Given the description of an element on the screen output the (x, y) to click on. 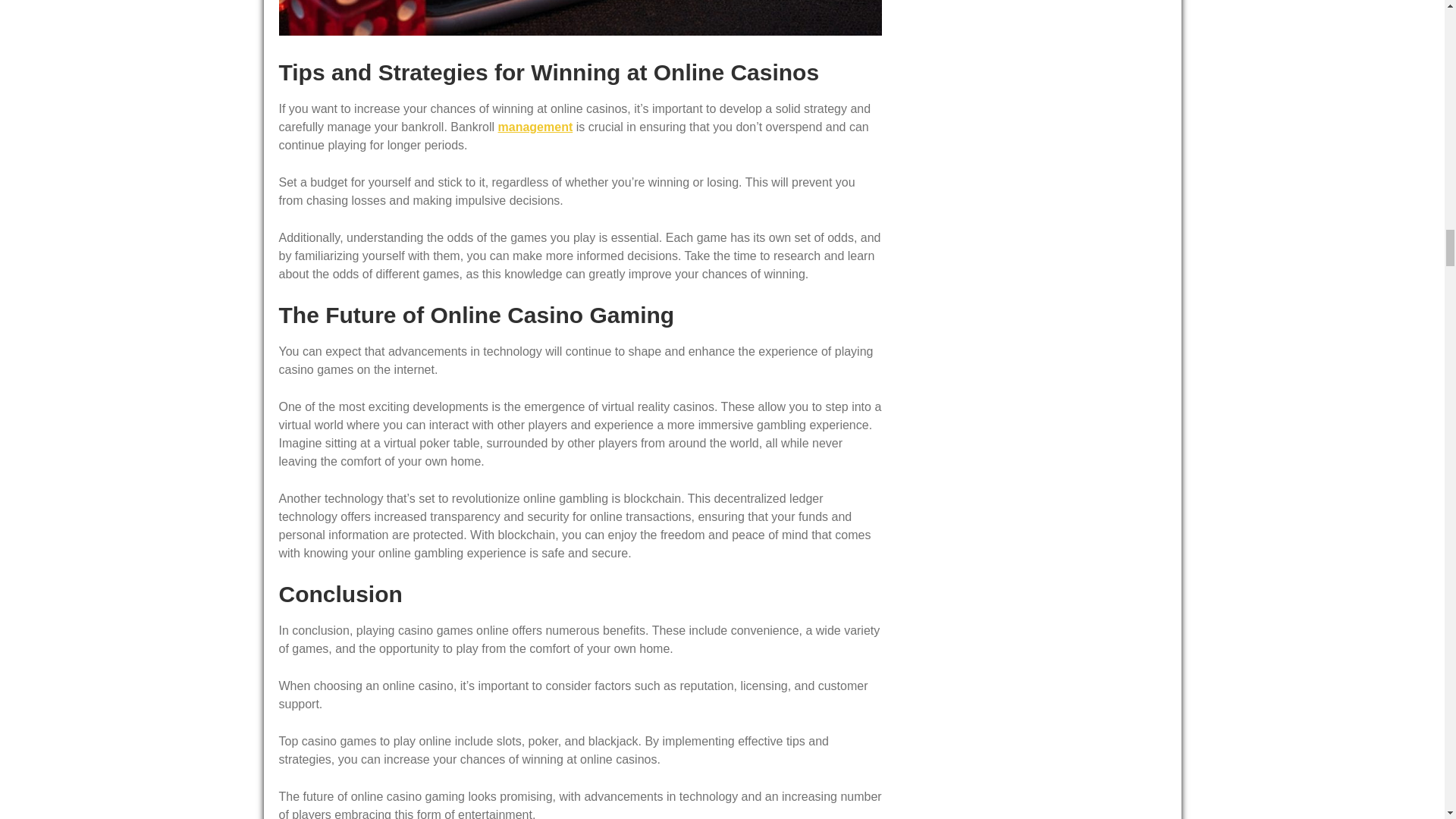
management (535, 126)
